Given the description of an element on the screen output the (x, y) to click on. 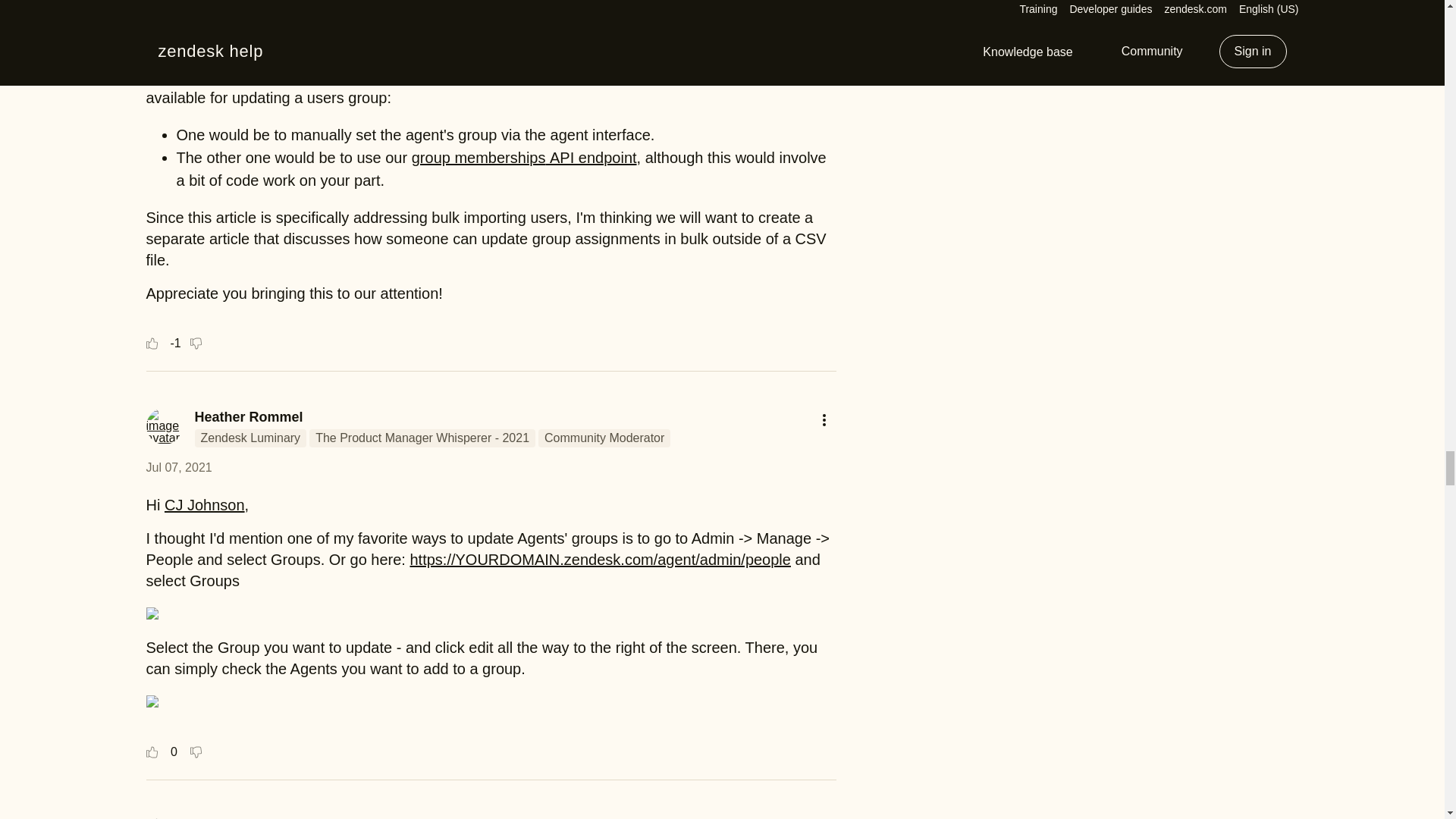
This user is a member of the Zendesk Luminaries program (249, 438)
Jul 07, 2021 (178, 467)
Jul 06, 2021 (178, 6)
